Given the description of an element on the screen output the (x, y) to click on. 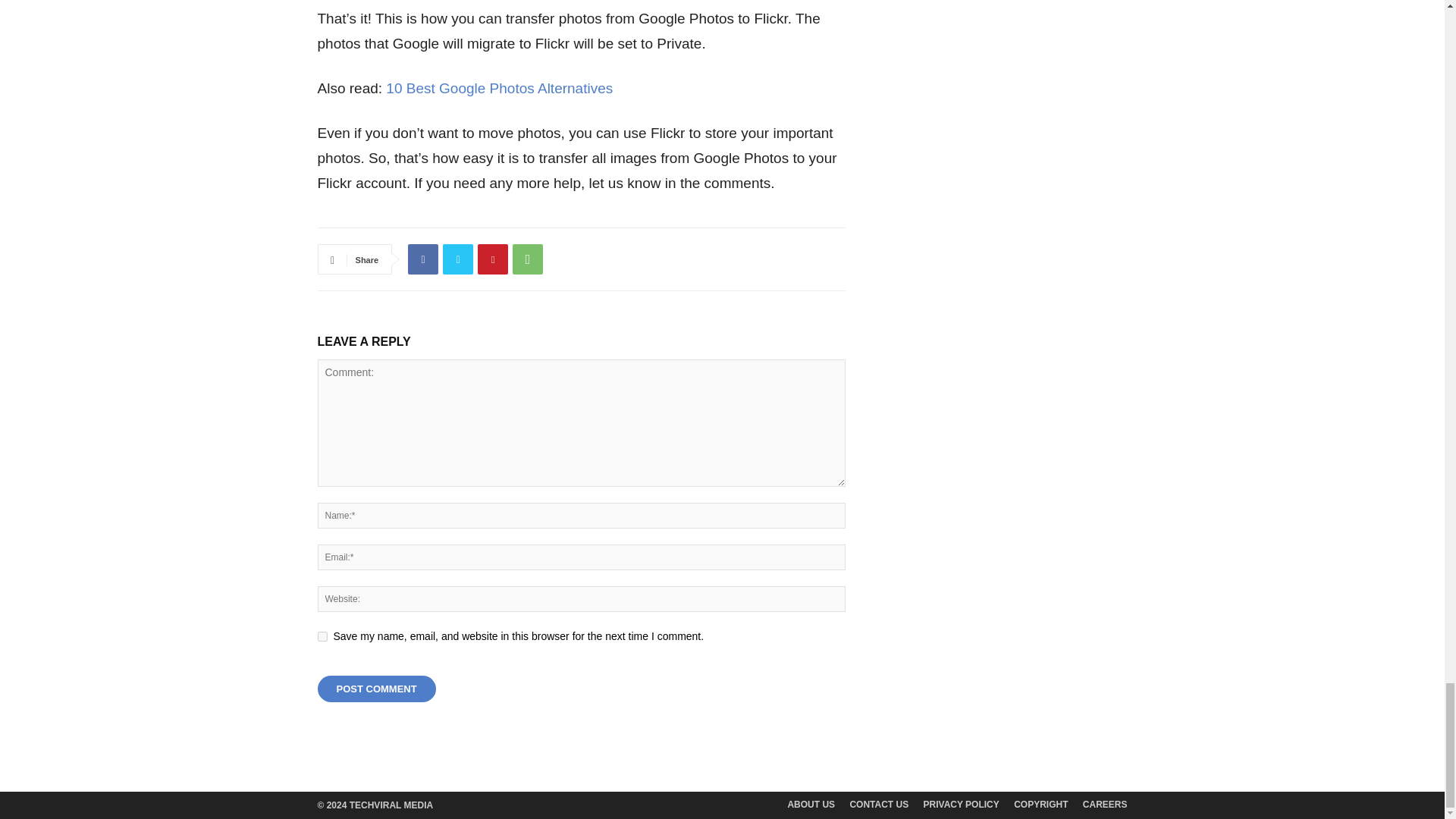
Post Comment (376, 688)
yes (321, 636)
